Given the description of an element on the screen output the (x, y) to click on. 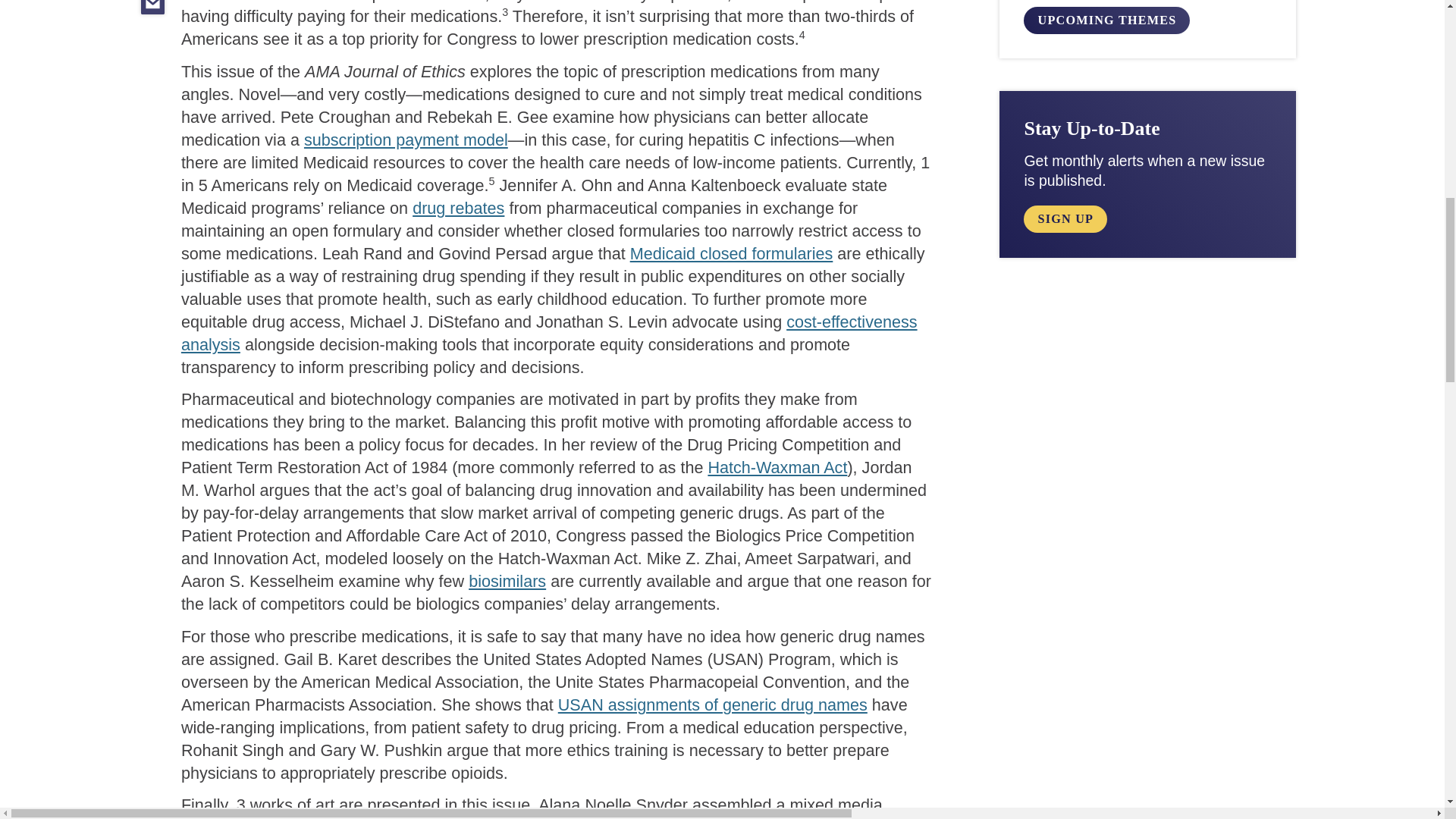
biosimilars (507, 580)
drug rebates (457, 208)
subscription payment model (406, 139)
cost-effectiveness analysis (548, 332)
alt (1106, 20)
Hatch-Waxman Act (777, 466)
Medicaid closed formularies (731, 253)
alt (1064, 218)
